Given the description of an element on the screen output the (x, y) to click on. 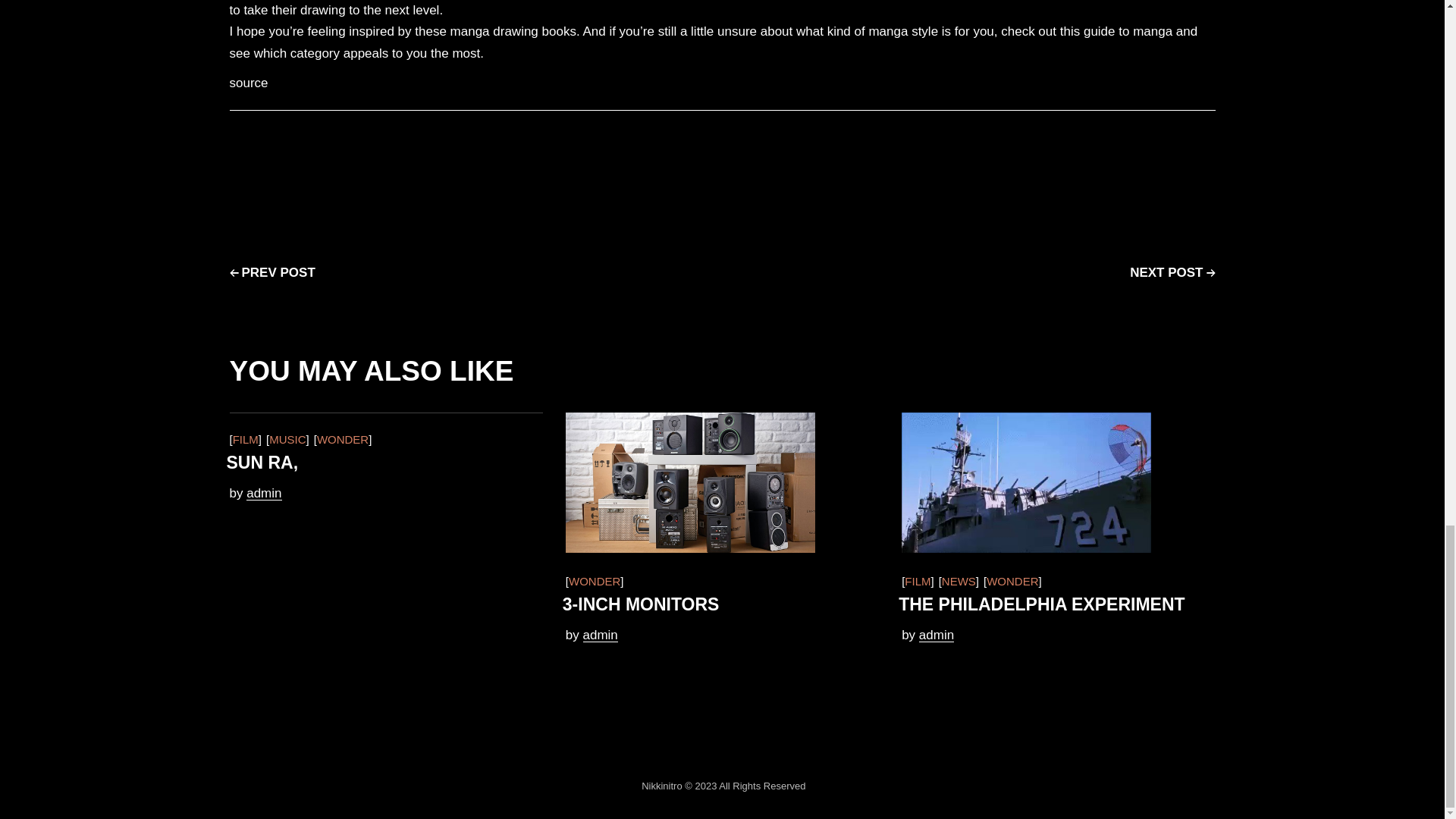
PREV POST (271, 273)
WONDER (343, 439)
by admin (254, 493)
by admin (591, 635)
guide to manga (1127, 31)
MUSIC (287, 439)
3-INCH MONITORS (640, 604)
source (247, 83)
SUN RA, (261, 462)
NEXT POST (1171, 273)
WONDER (595, 581)
FILM (245, 439)
